Given the description of an element on the screen output the (x, y) to click on. 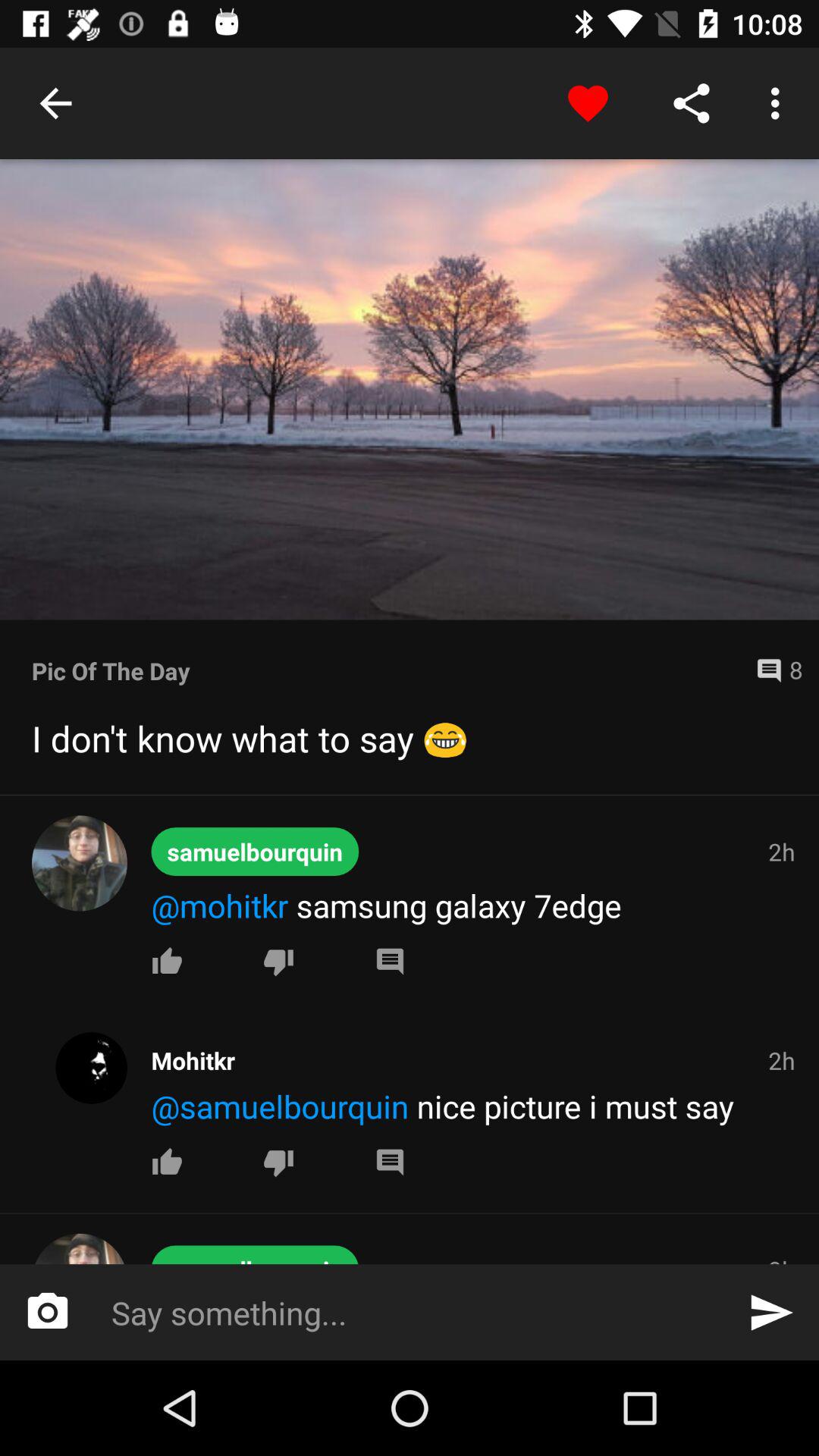
press the icon above the pic of the icon (409, 389)
